Given the description of an element on the screen output the (x, y) to click on. 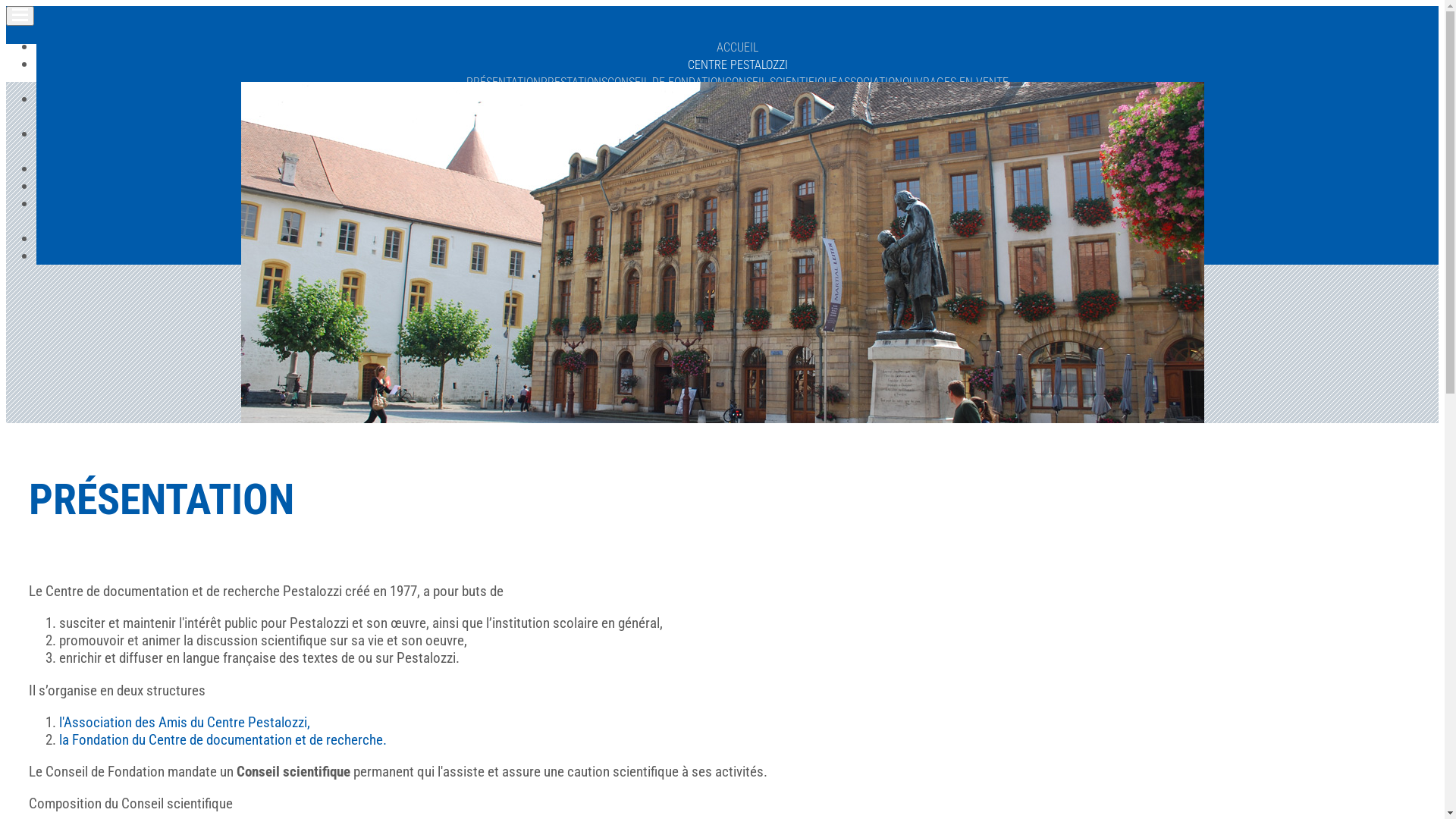
CONSEIL DE FONDATION Element type: text (665, 82)
DOCUMENTATION Element type: text (736, 204)
VISITES CULTURELLES Element type: text (737, 186)
TRAVAUX UNIVERSITAIRES Element type: text (788, 221)
OUVRAGES EN VENTE Element type: text (955, 82)
CENTRE PESTALOZZI Element type: text (737, 64)
la Fondation du Centre de documentation et de recherche. Element type: text (222, 739)
PRESTATIONS Element type: text (573, 82)
SUR PESTALOZZI Element type: text (674, 151)
ASSOCIATION Element type: text (869, 82)
PHOTOS Element type: text (737, 239)
CONTEXTE HISTORIQUE Element type: text (665, 116)
ANNALES Element type: text (834, 151)
l'Association des Amis du Centre Pestalozzi, Element type: text (184, 722)
DE PESTALOZZI Element type: text (597, 151)
COLLOQUES Element type: text (885, 151)
CONTACT Element type: text (737, 256)
RAYONNEMENT Element type: text (817, 116)
ACCUEIL Element type: text (737, 47)
CAHIERS Element type: text (736, 151)
BULLETINS Element type: text (784, 151)
CONSEIL SCIENTIFIQUE Element type: text (780, 82)
SUR SES PAS... Element type: text (891, 116)
BIOGRAPHIE Element type: text (577, 116)
PESTALOZZI Element type: text (736, 99)
